Given the description of an element on the screen output the (x, y) to click on. 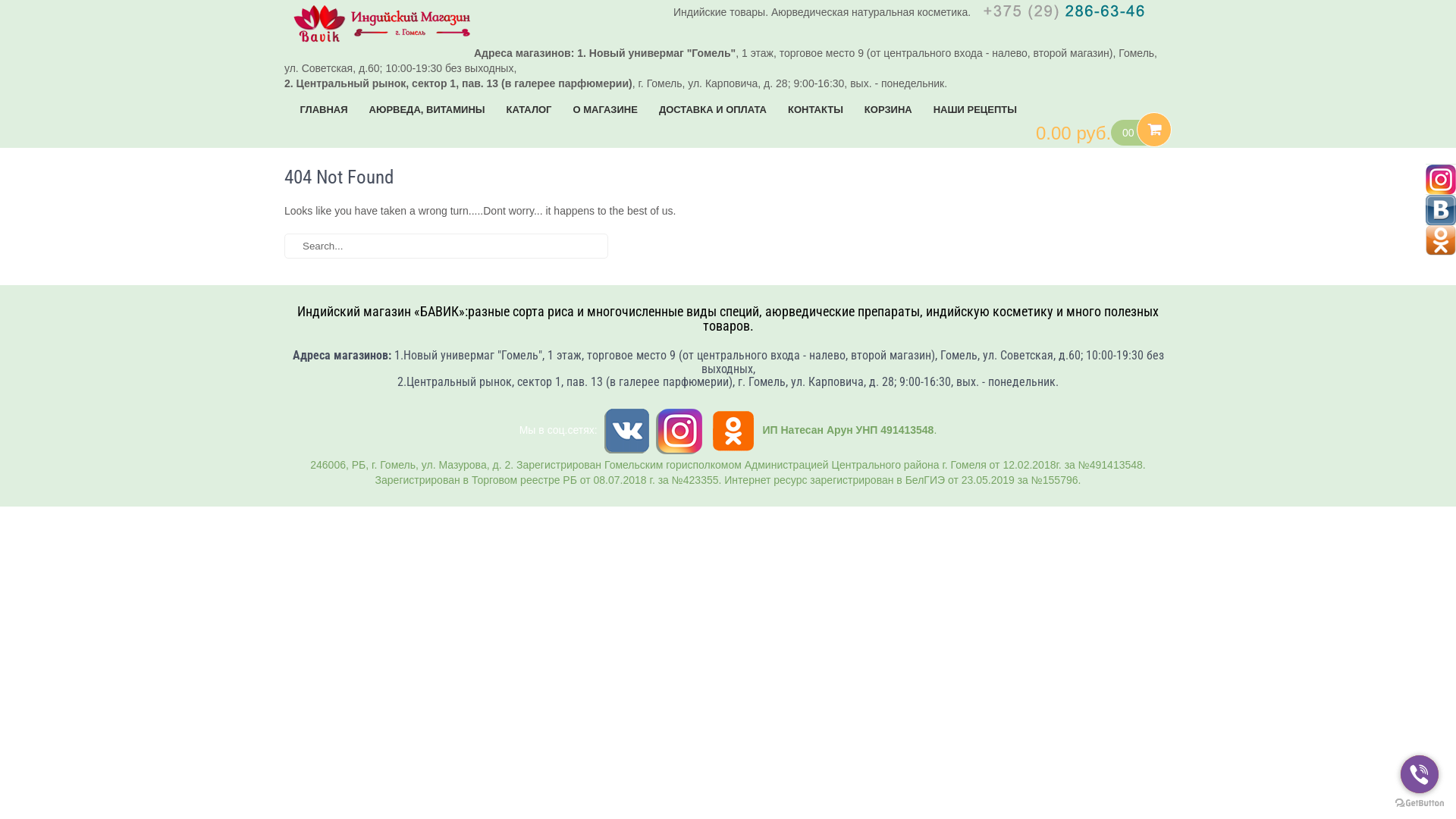
Search Element type: text (700, 245)
